Given the description of an element on the screen output the (x, y) to click on. 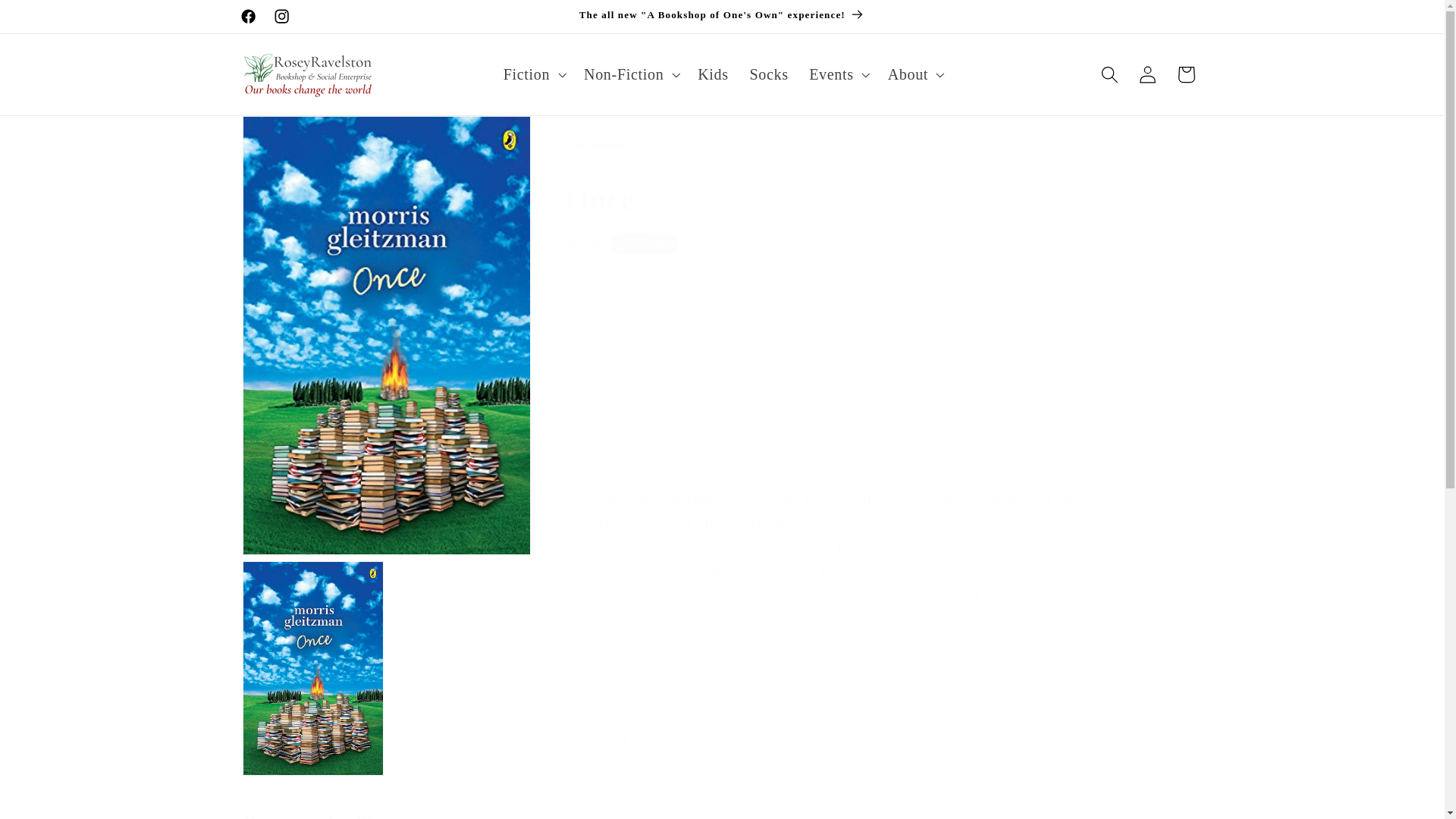
Skip to content (52, 20)
Instagram (281, 16)
The all new "A Bookshop of One's Own" experience! (721, 16)
1 (619, 332)
Facebook (247, 16)
